Given the description of an element on the screen output the (x, y) to click on. 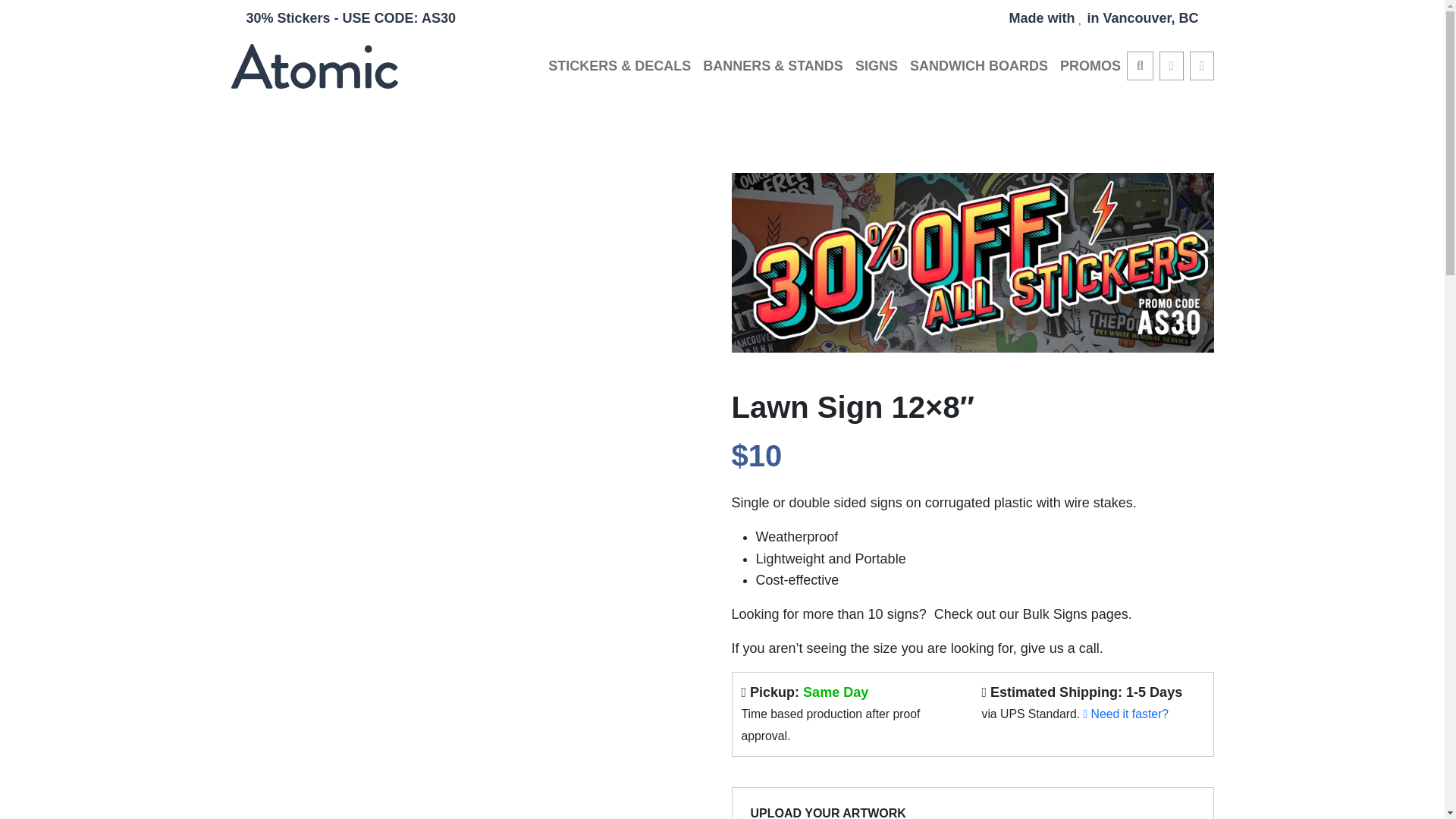
SIGNS (876, 66)
PROMOS (1087, 66)
SANDWICH BOARDS (979, 66)
Need it faster? (1126, 713)
